Given the description of an element on the screen output the (x, y) to click on. 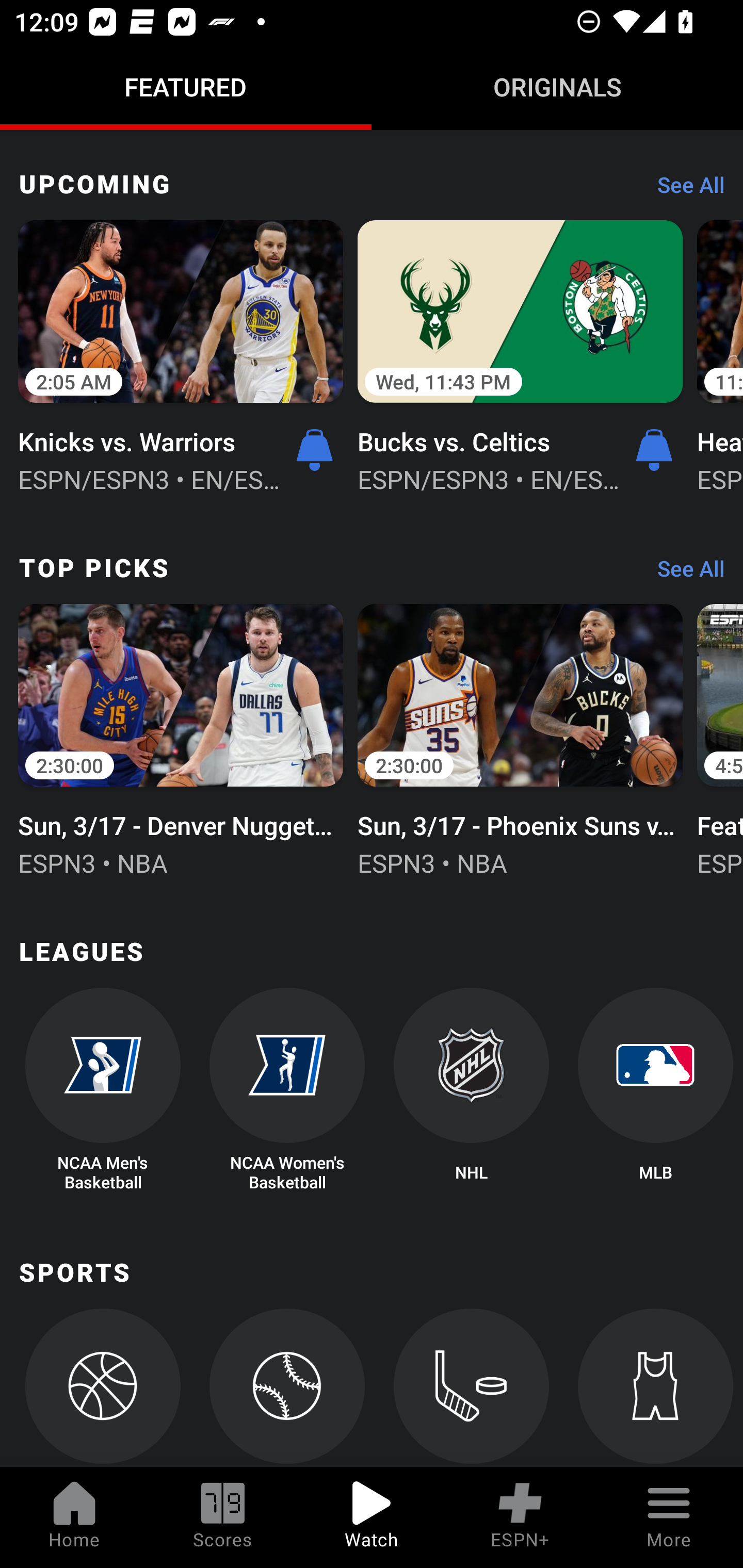
Originals ORIGINALS (557, 86)
See All (683, 189)
See All (683, 573)
NCAA Men's Basketball (102, 1090)
NCAA Women's Basketball (286, 1090)
NHL (471, 1090)
MLB (655, 1090)
Home (74, 1517)
Scores (222, 1517)
ESPN+ (519, 1517)
More (668, 1517)
